Given the description of an element on the screen output the (x, y) to click on. 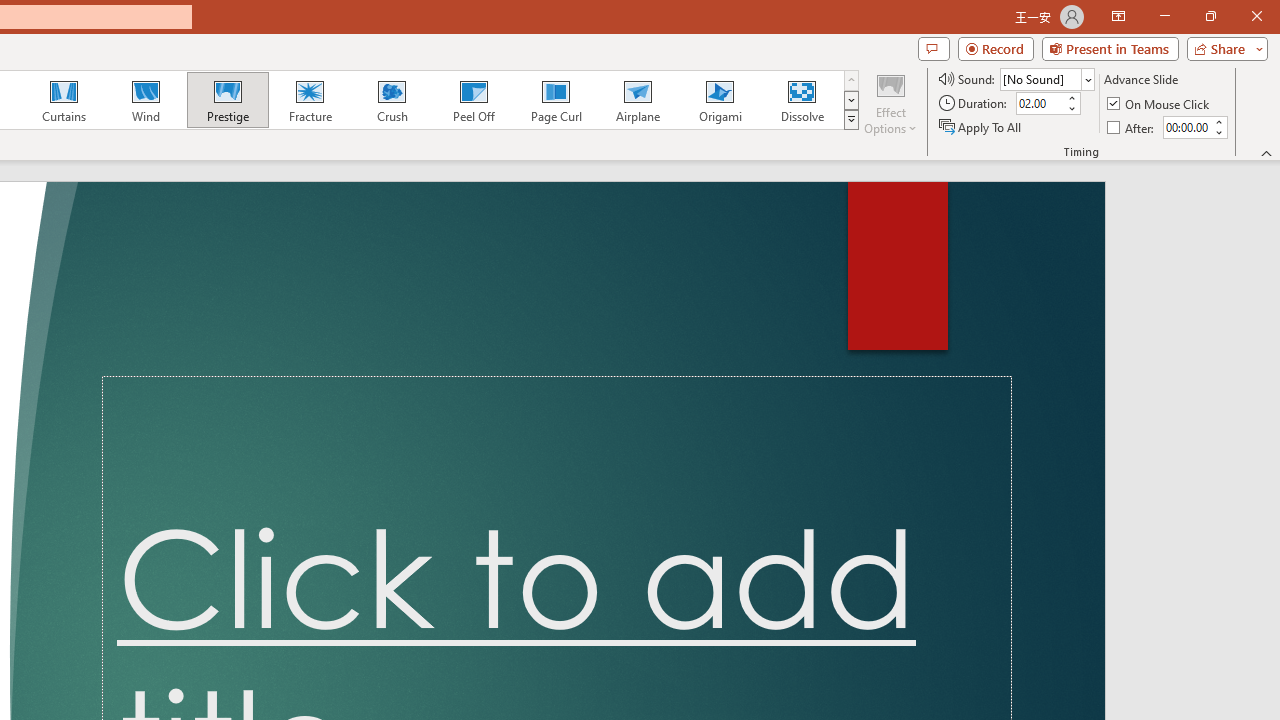
Curtains (63, 100)
Crush (391, 100)
More (1218, 121)
Wind (145, 100)
